Given the description of an element on the screen output the (x, y) to click on. 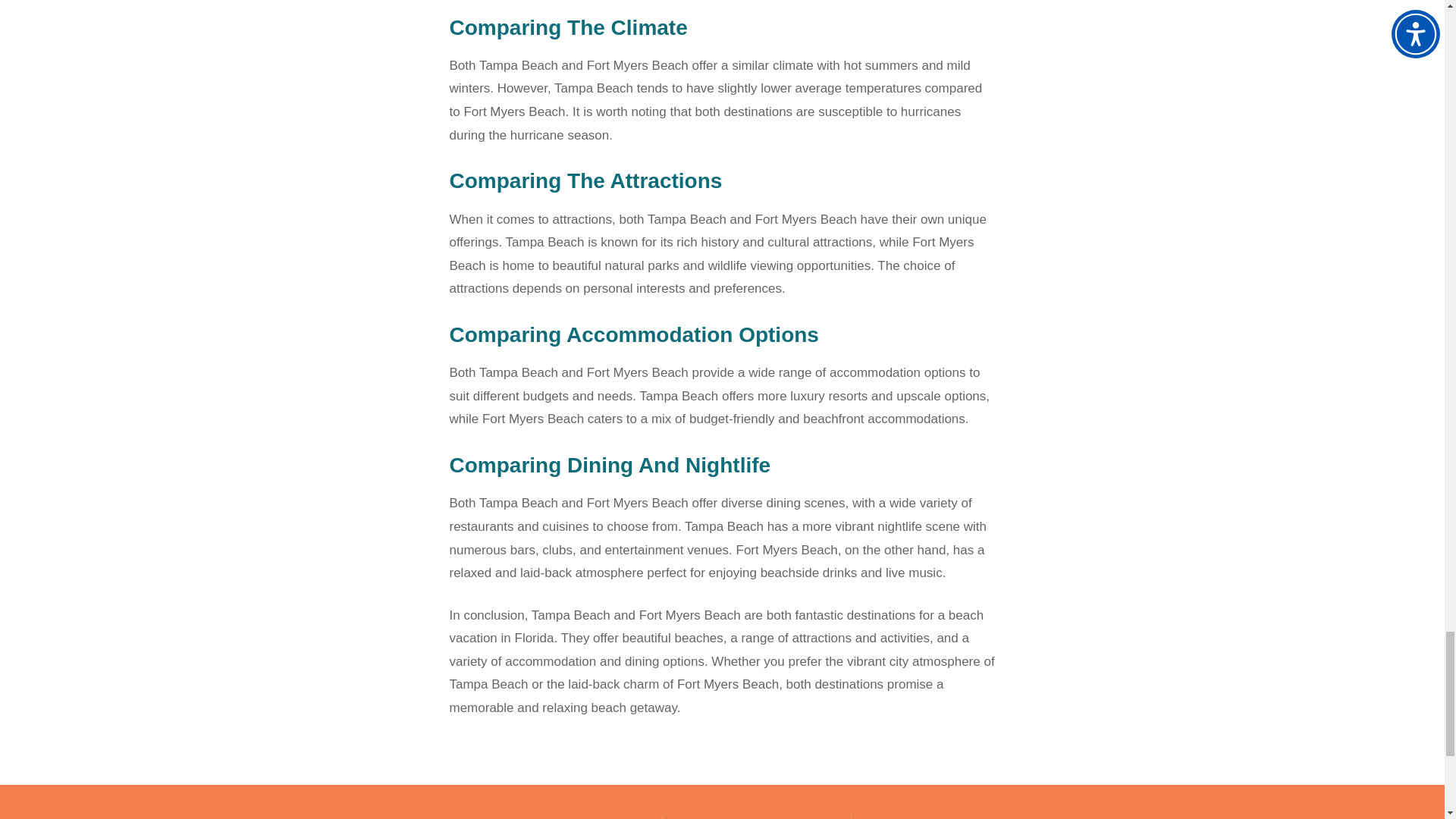
ROOMS (756, 816)
Facebook (883, 816)
